Given the description of an element on the screen output the (x, y) to click on. 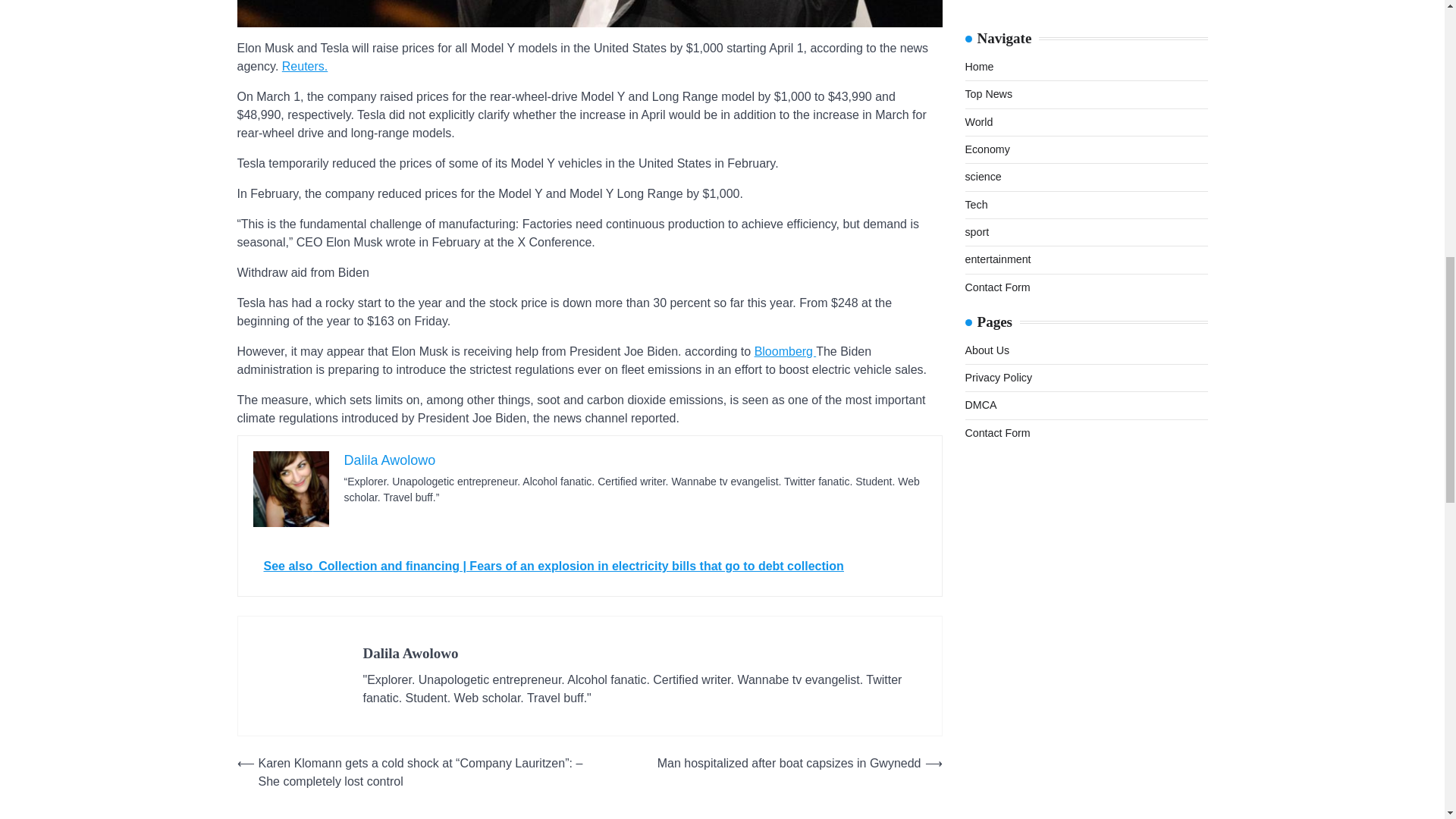
Dalila Awolowo (389, 459)
Bloomberg (785, 350)
Reuters. (304, 65)
